Given the description of an element on the screen output the (x, y) to click on. 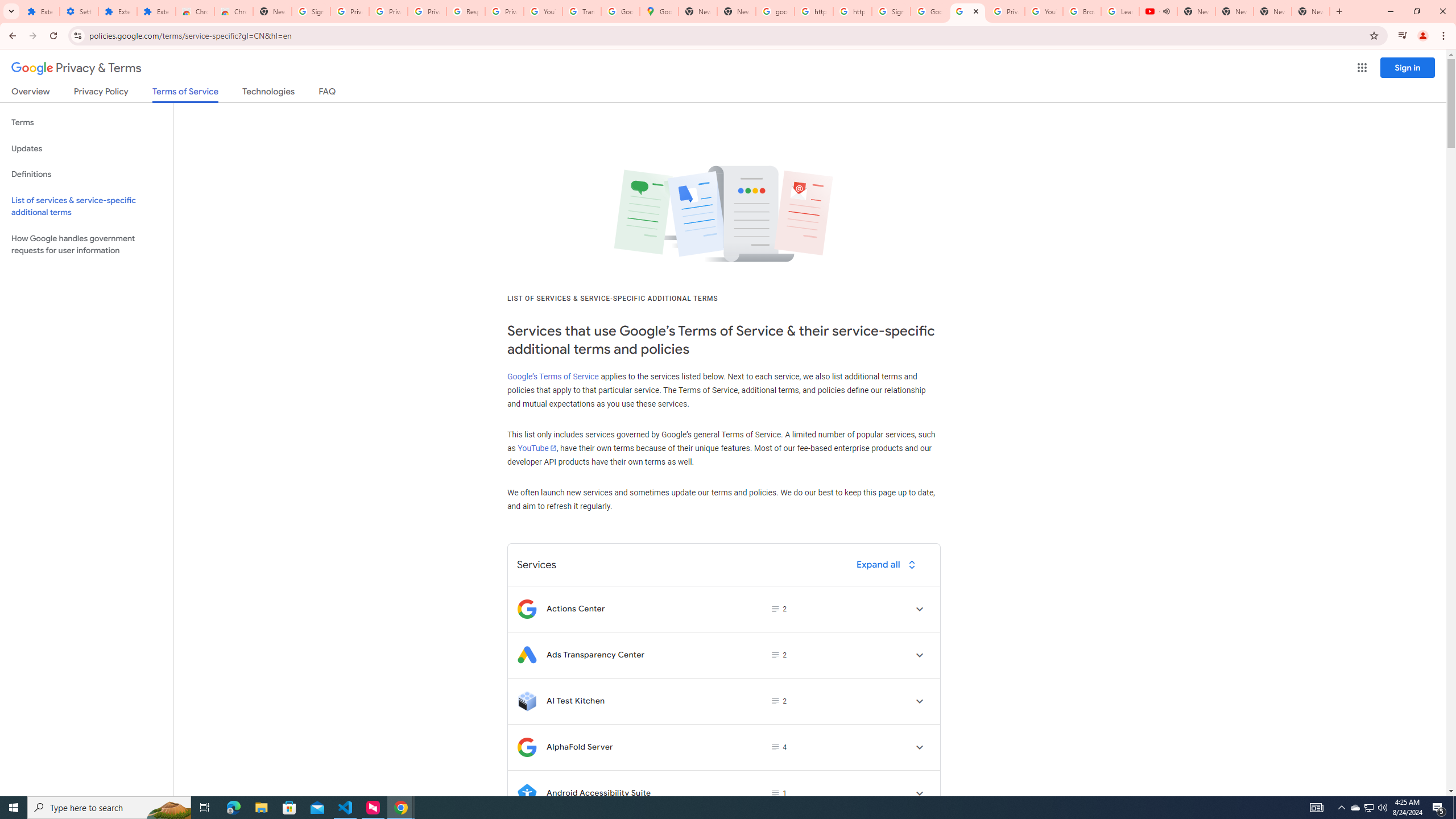
Logo for AlphaFold Server (526, 746)
New Tab (272, 11)
YouTube (542, 11)
Extensions (40, 11)
Expand all (888, 564)
